Given the description of an element on the screen output the (x, y) to click on. 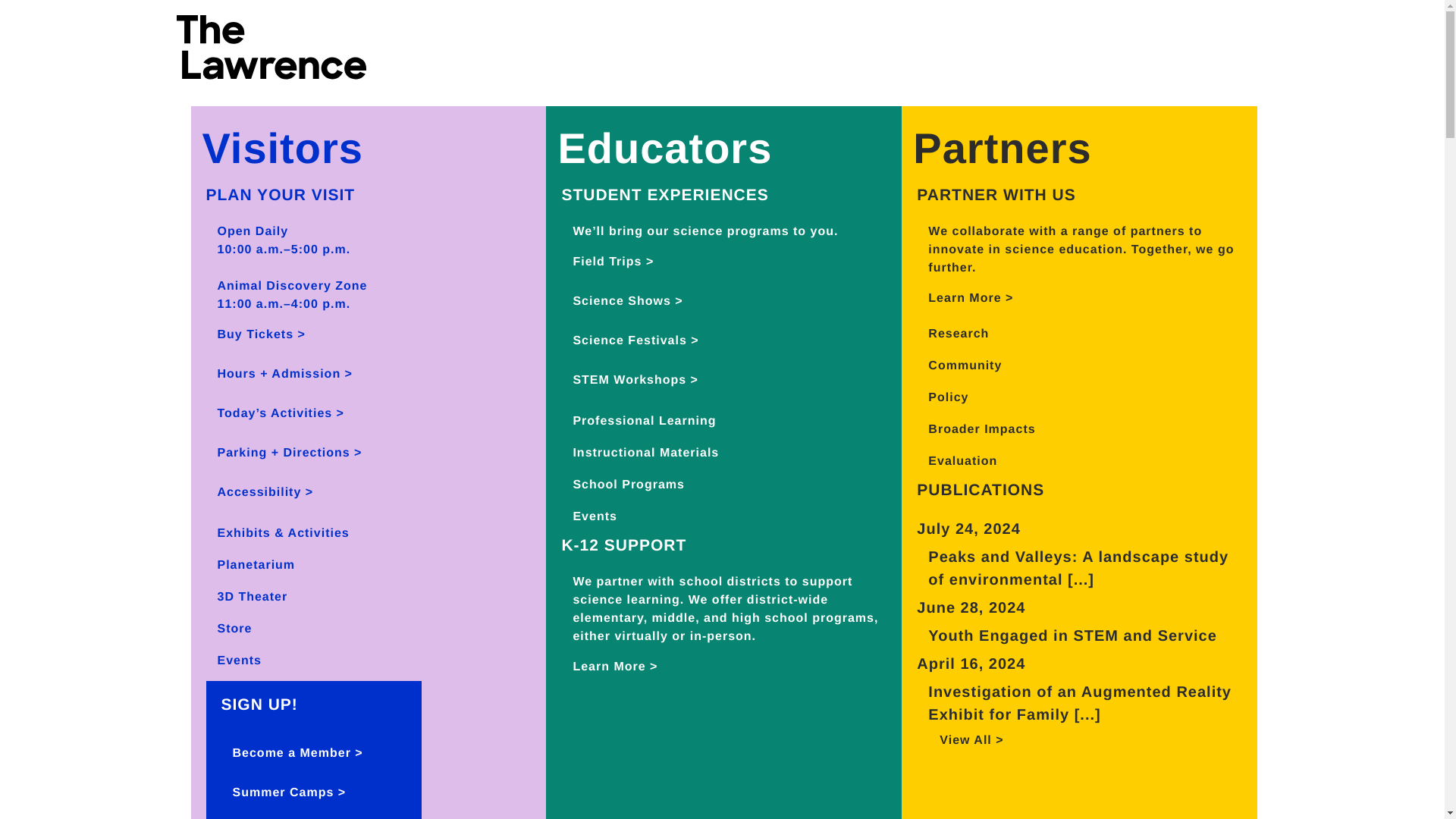
Community (959, 365)
Visitors (276, 147)
Store (228, 628)
Broader Impacts (976, 429)
Become a Member (291, 753)
Events (587, 516)
Field Trips (606, 261)
Accessibility (260, 492)
Buy Tickets (255, 334)
Partners (995, 147)
